Given the description of an element on the screen output the (x, y) to click on. 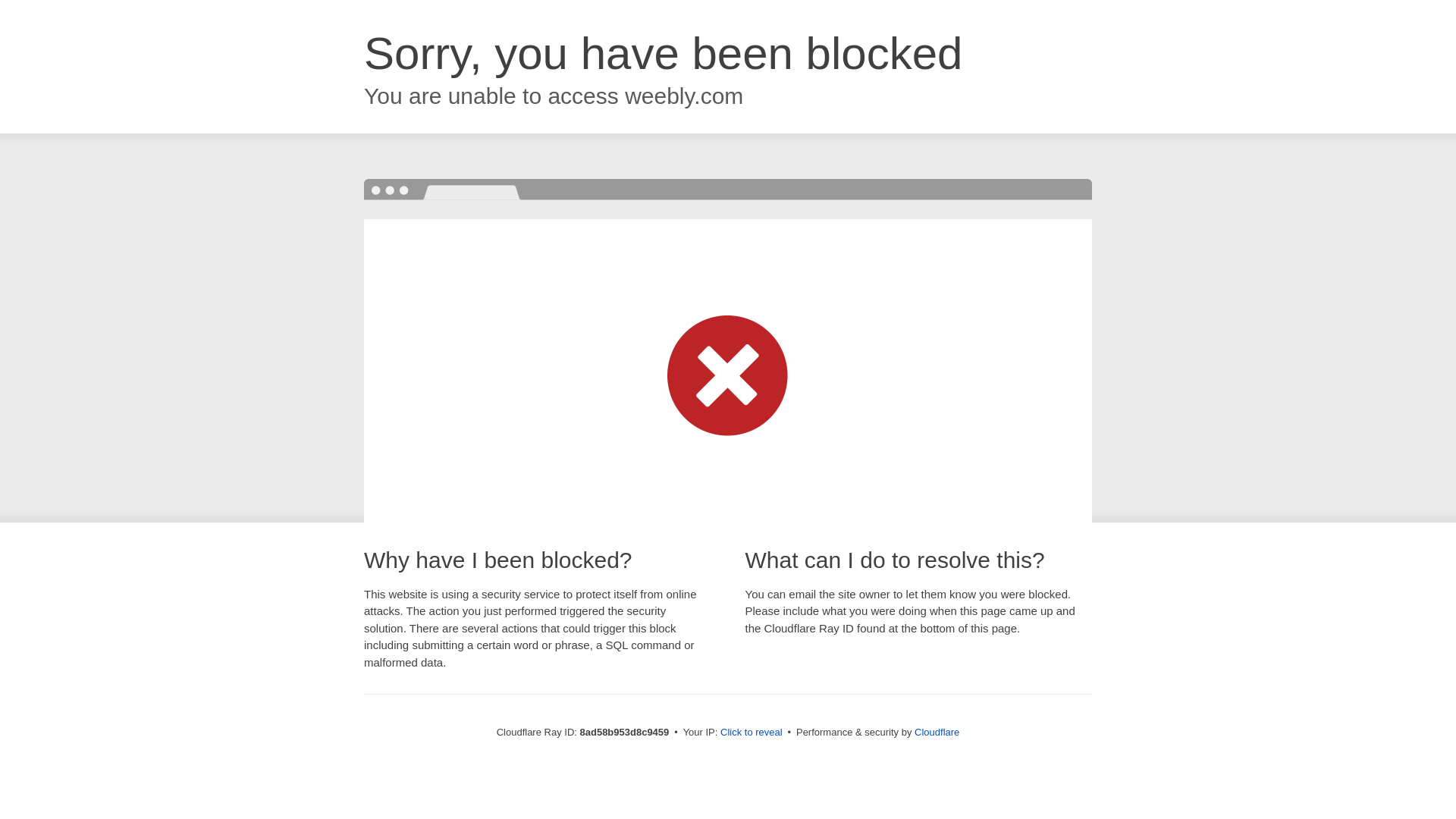
Cloudflare (936, 731)
Click to reveal (751, 732)
